Given the description of an element on the screen output the (x, y) to click on. 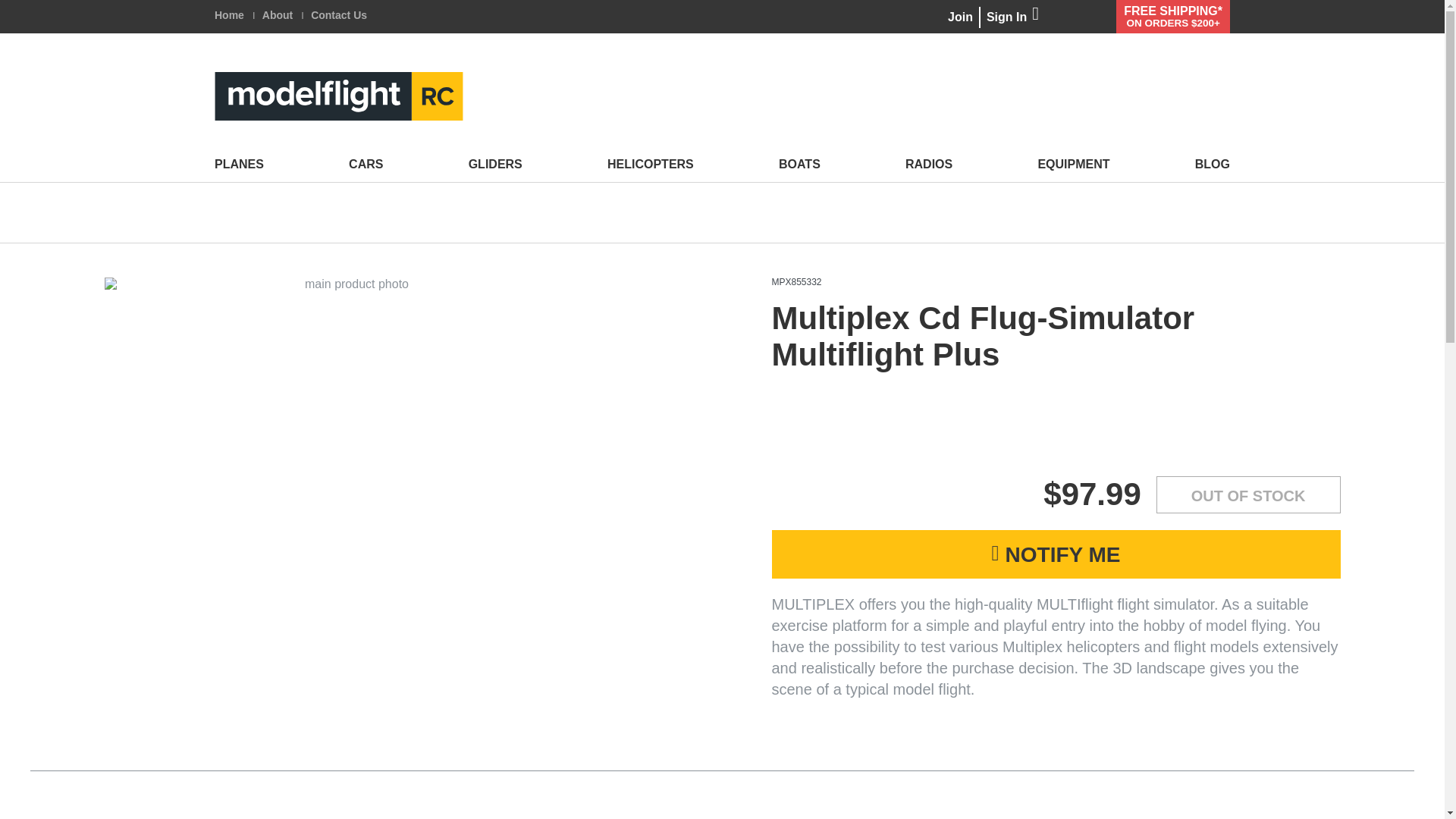
Contact Us (338, 15)
Notify me (1055, 553)
About (277, 15)
Sign In (1013, 16)
Join (959, 17)
Home (229, 15)
PLANES (238, 164)
Availability (1248, 494)
